Given the description of an element on the screen output the (x, y) to click on. 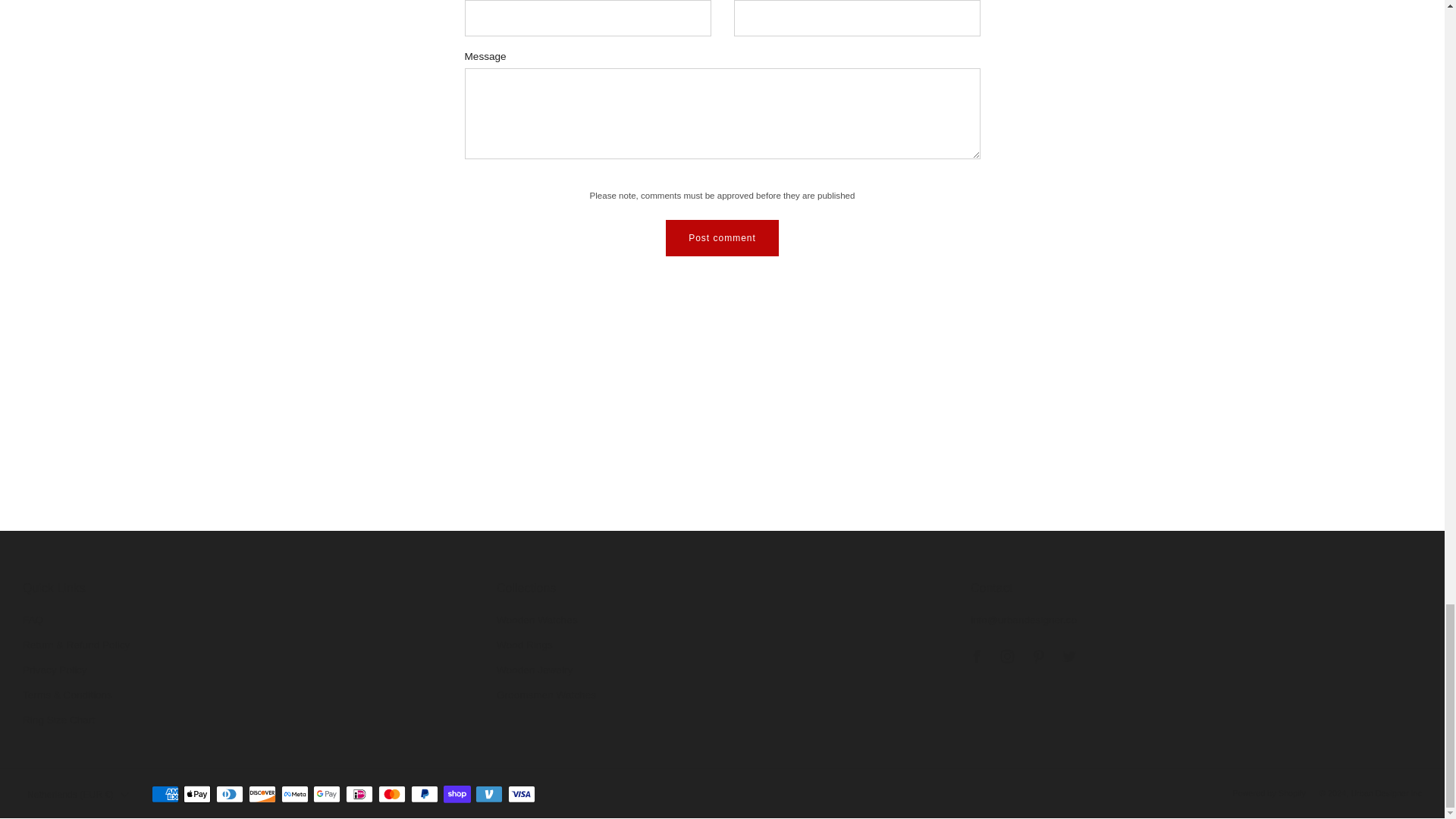
Post comment (721, 238)
